Given the description of an element on the screen output the (x, y) to click on. 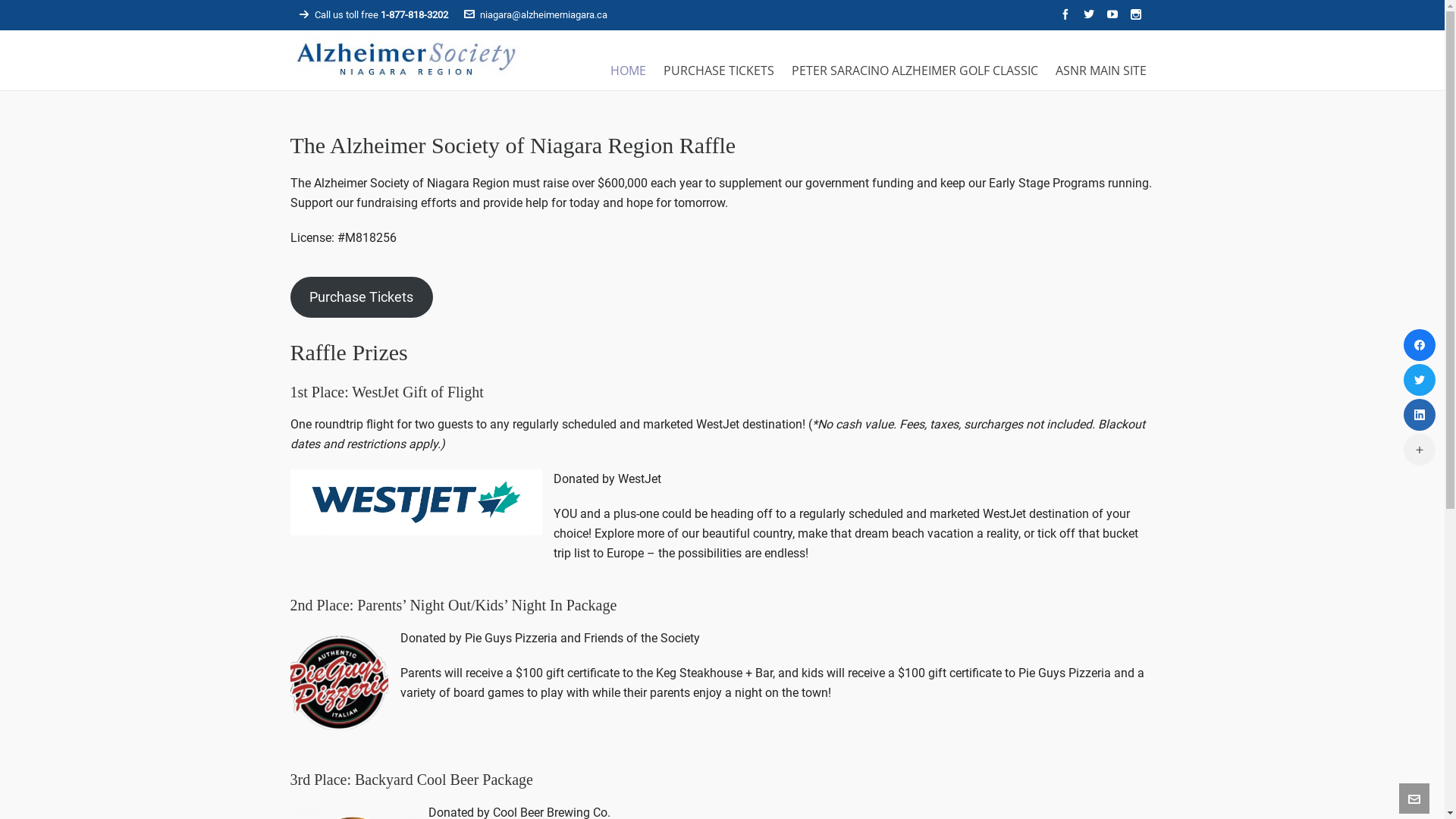
HOME Element type: text (628, 67)
Purchase Tickets Element type: text (361, 296)
ASNR MAIN SITE Element type: text (1100, 67)
PETER SARACINO ALZHEIMER GOLF CLASSIC Element type: text (913, 67)
niagara@alzheimerniagara.ca Element type: text (535, 15)
PURCHASE TICKETS Element type: text (718, 67)
